Given the description of an element on the screen output the (x, y) to click on. 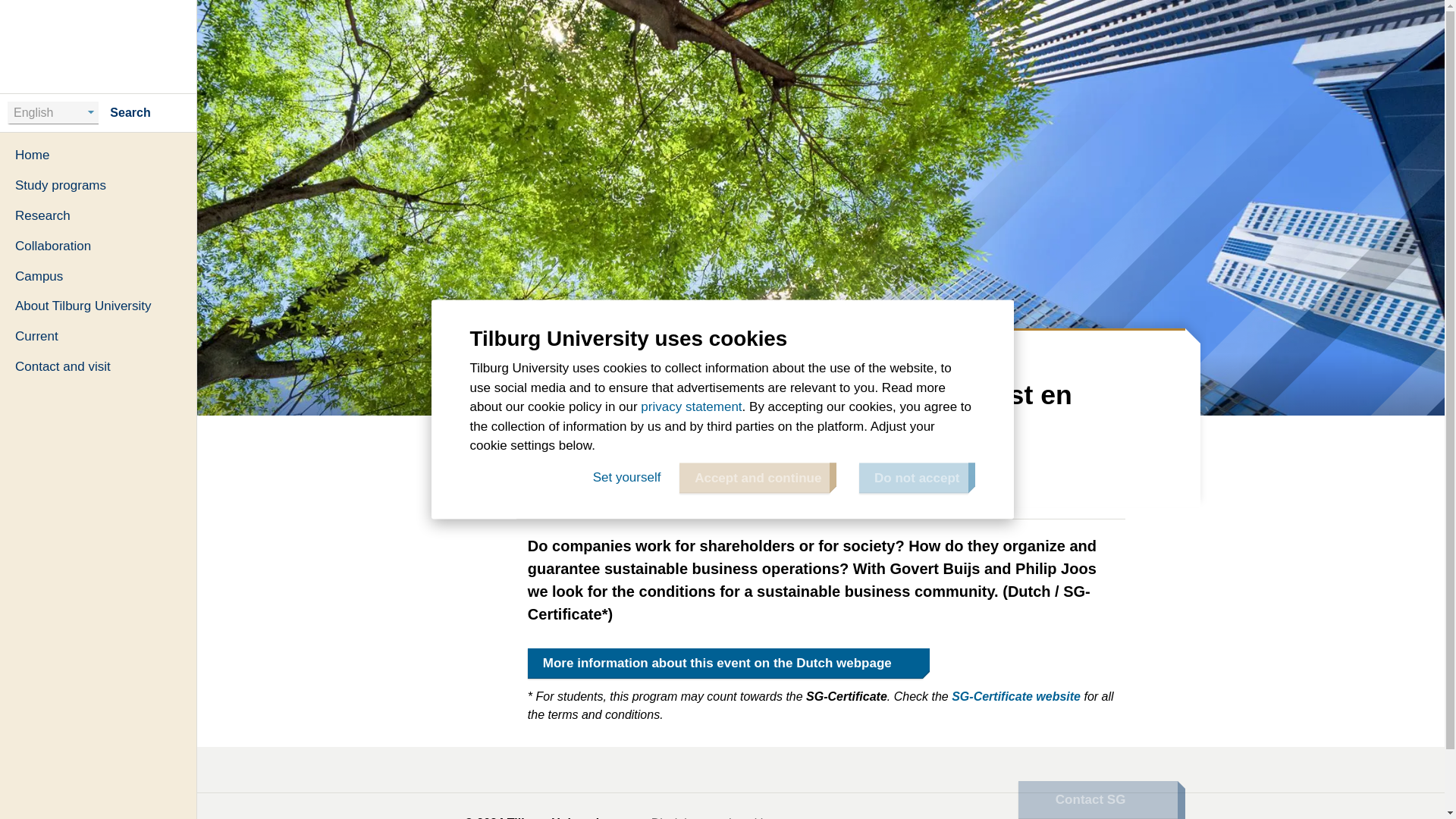
Collaboration (98, 245)
Study programs (98, 185)
Go to the homepage of (98, 46)
Facebook (1060, 813)
Black Box Esplanade gebouw, Tilburg University (742, 486)
Home (98, 155)
Campus Tilburg University (593, 350)
Current (98, 336)
Research (98, 215)
LinkedIn (991, 813)
